Given the description of an element on the screen output the (x, y) to click on. 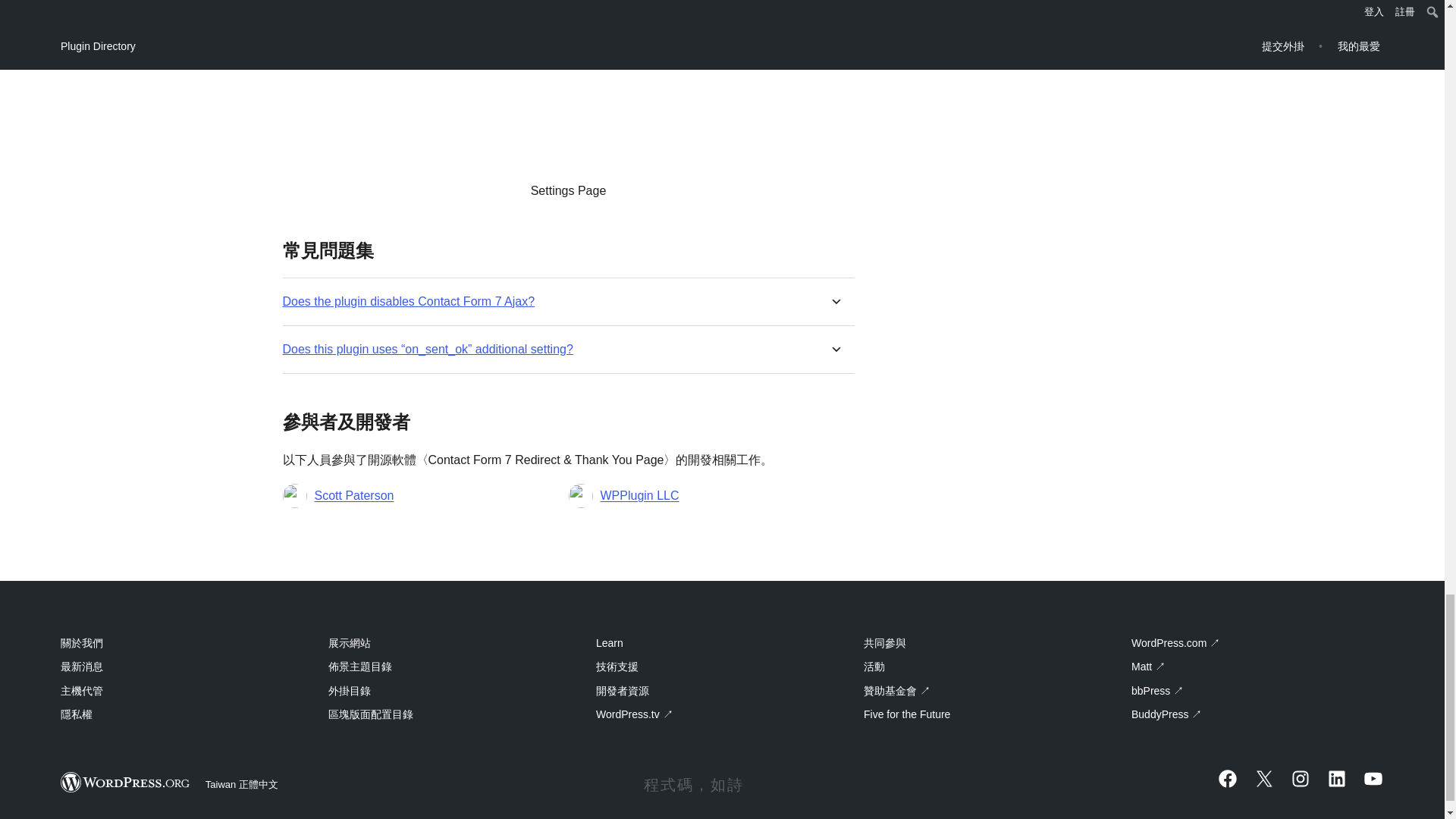
WordPress.org (125, 782)
